Given the description of an element on the screen output the (x, y) to click on. 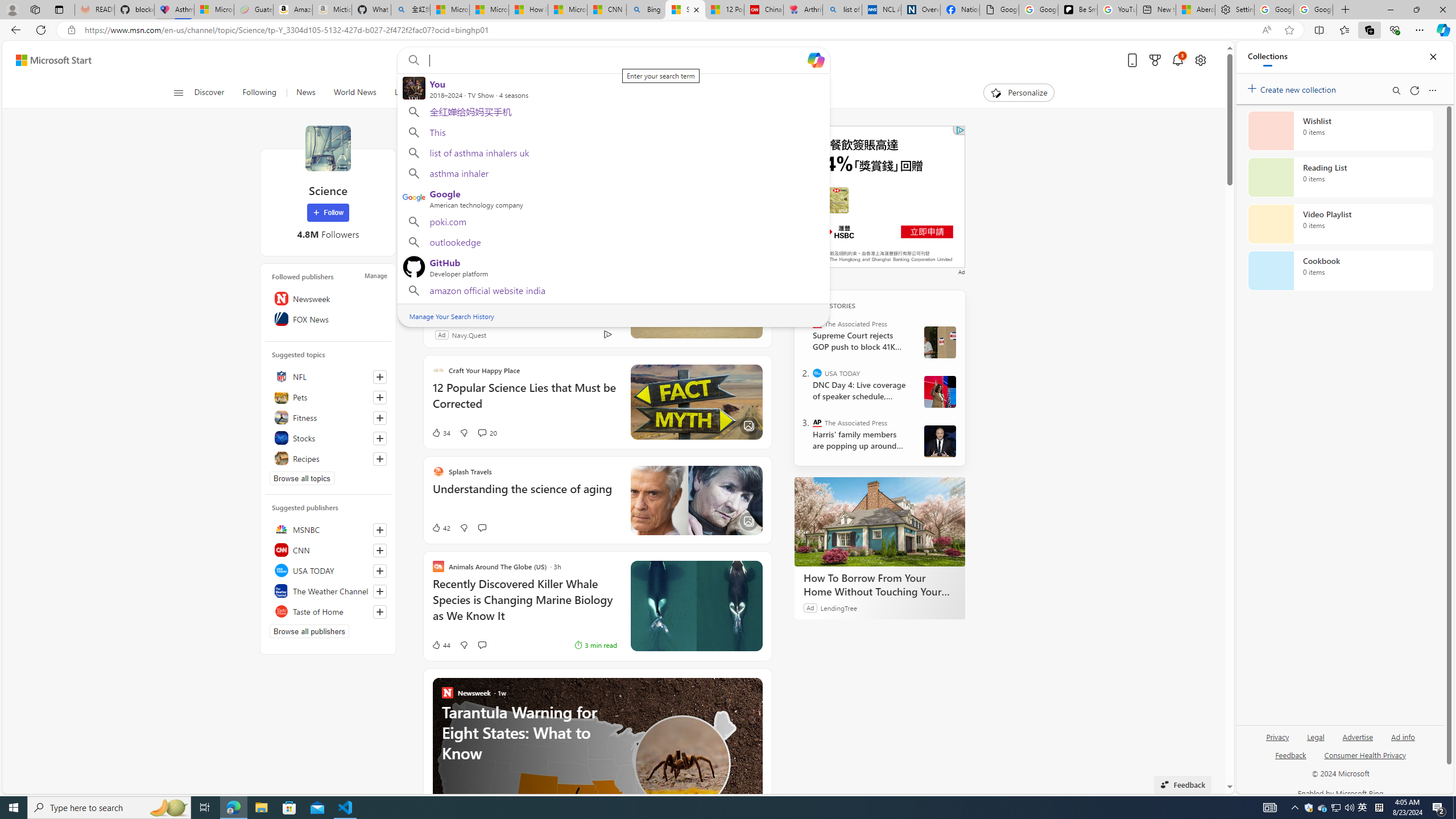
Create new collection (1293, 87)
Advertise (1357, 736)
Cookbook collection, 0 items (1339, 270)
Science - MSN (685, 9)
Be Smart | creating Science videos | Patreon (1077, 9)
CNN - MSN (606, 9)
